Given the description of an element on the screen output the (x, y) to click on. 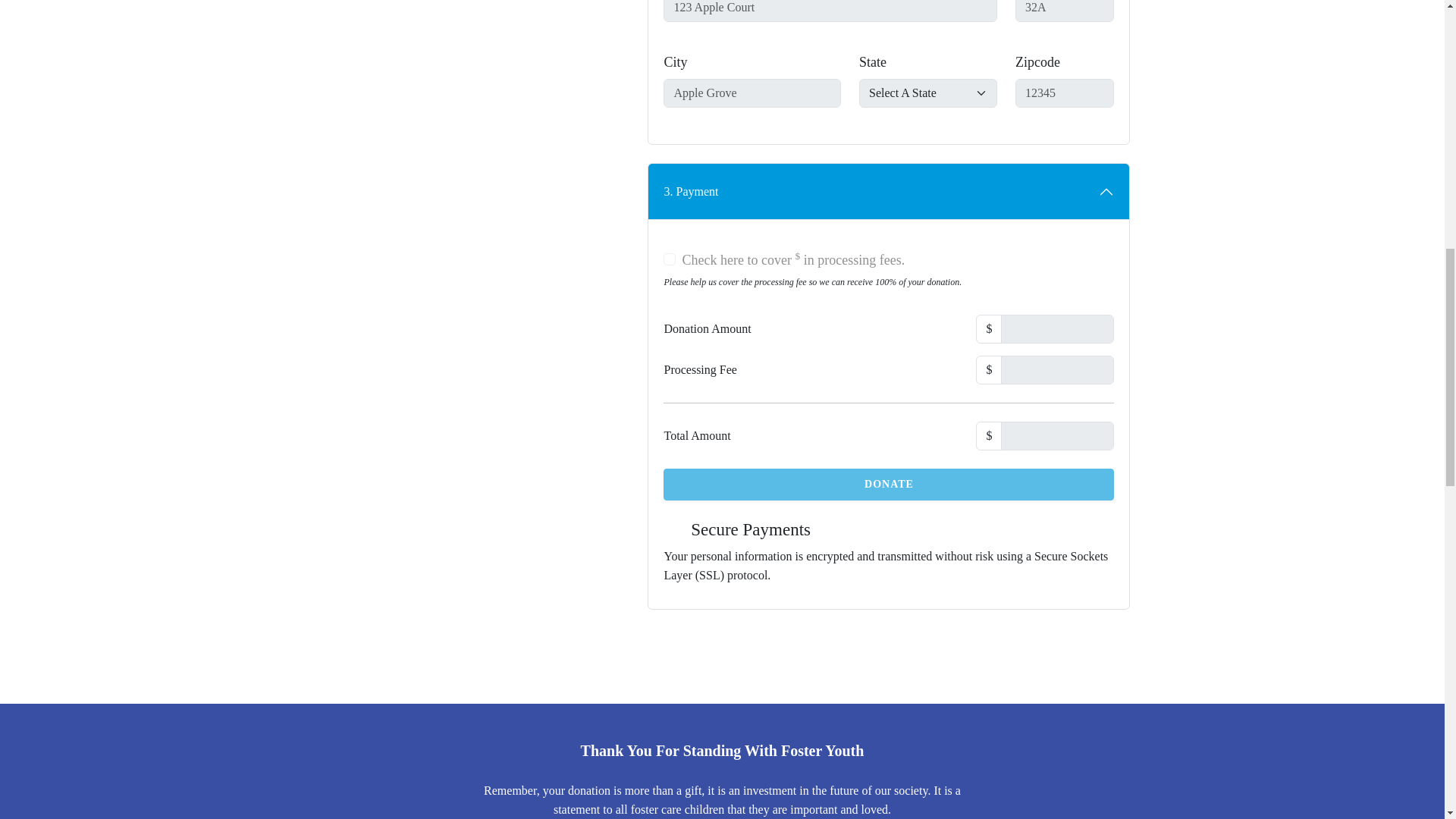
Yes (669, 259)
